Given the description of an element on the screen output the (x, y) to click on. 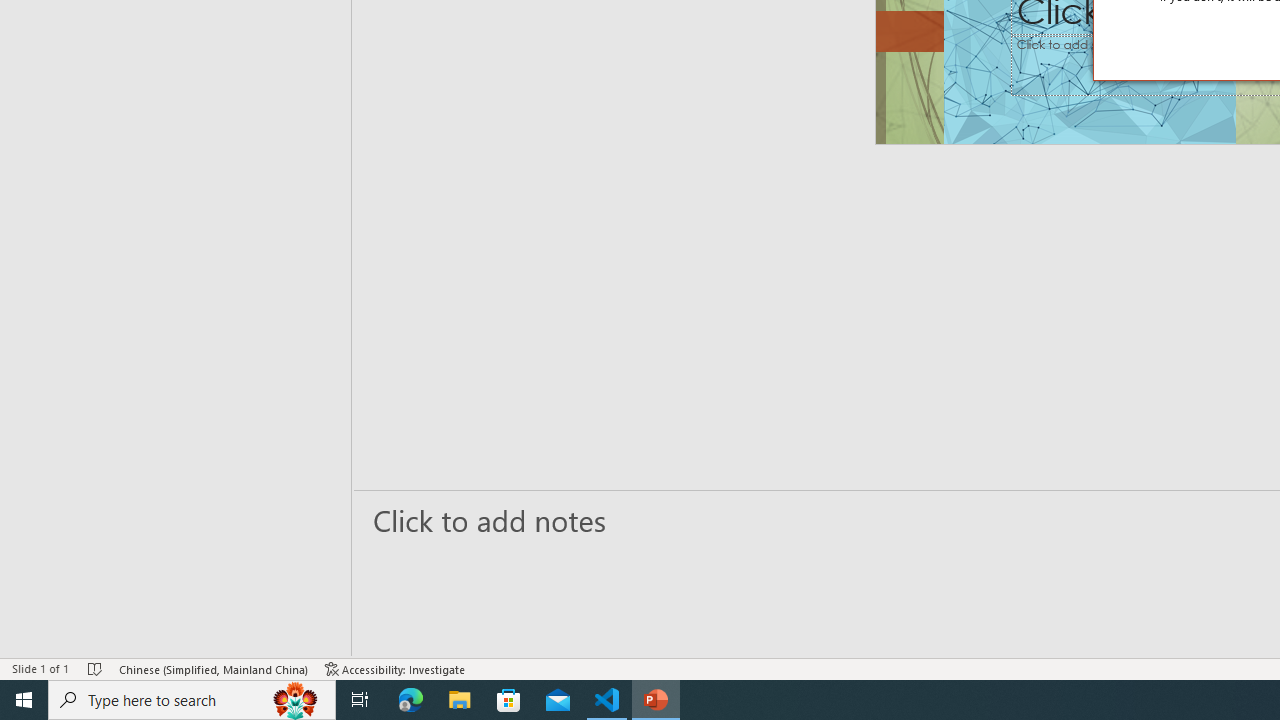
Microsoft Edge (411, 699)
Start (24, 699)
PowerPoint - 1 running window (656, 699)
Type here to search (191, 699)
Accessibility Checker Accessibility: Investigate (395, 668)
Spell Check No Errors (95, 668)
Search highlights icon opens search home window (295, 699)
Microsoft Store (509, 699)
Task View (359, 699)
Visual Studio Code - 1 running window (607, 699)
File Explorer (460, 699)
